Given the description of an element on the screen output the (x, y) to click on. 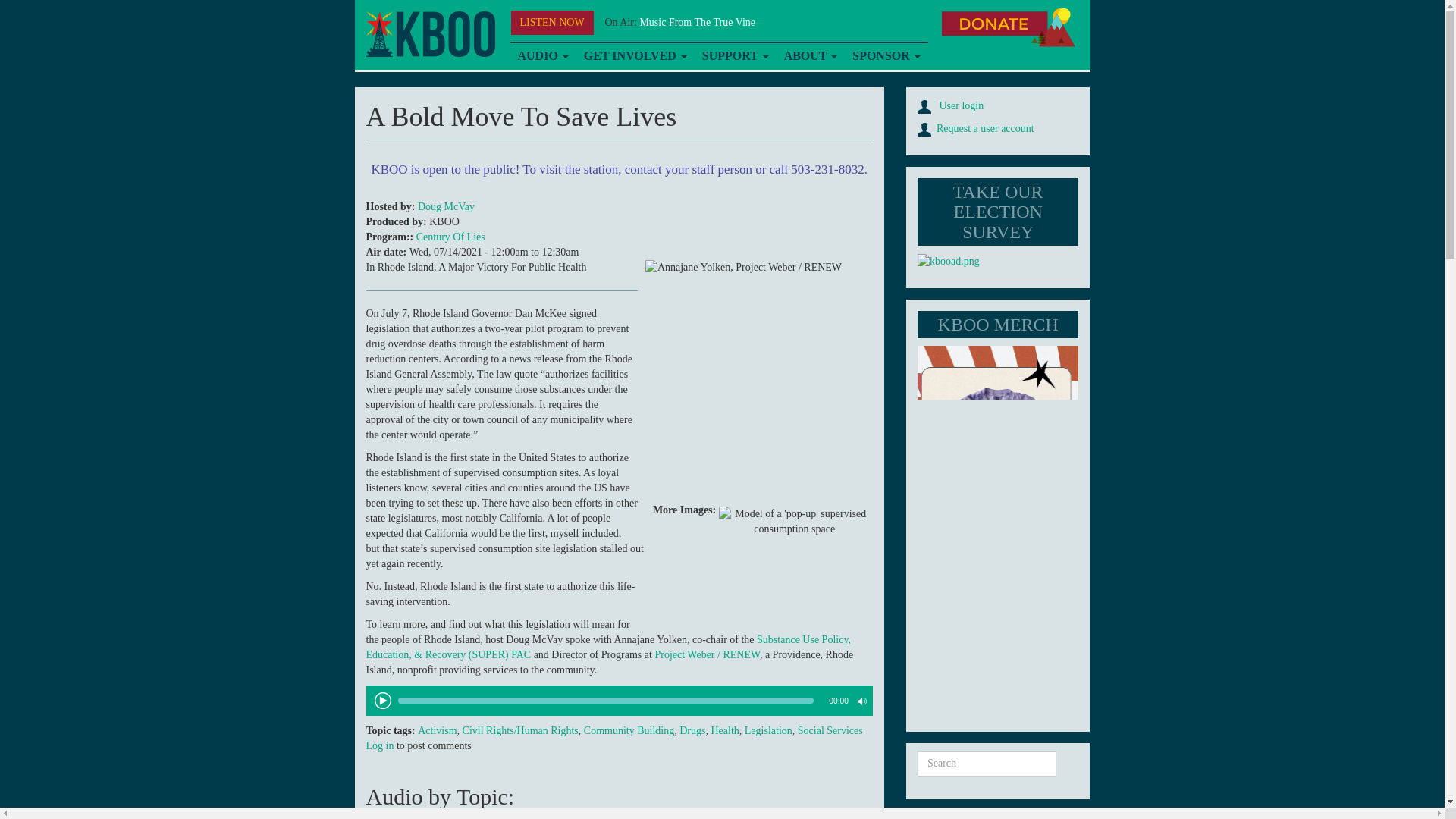
ABOUT (810, 55)
GET INVOLVED (635, 55)
SUPPORT (735, 55)
AUDIO (542, 55)
Home (430, 34)
Music From The True Vine (697, 21)
LISTEN NOW (551, 22)
